Given the description of an element on the screen output the (x, y) to click on. 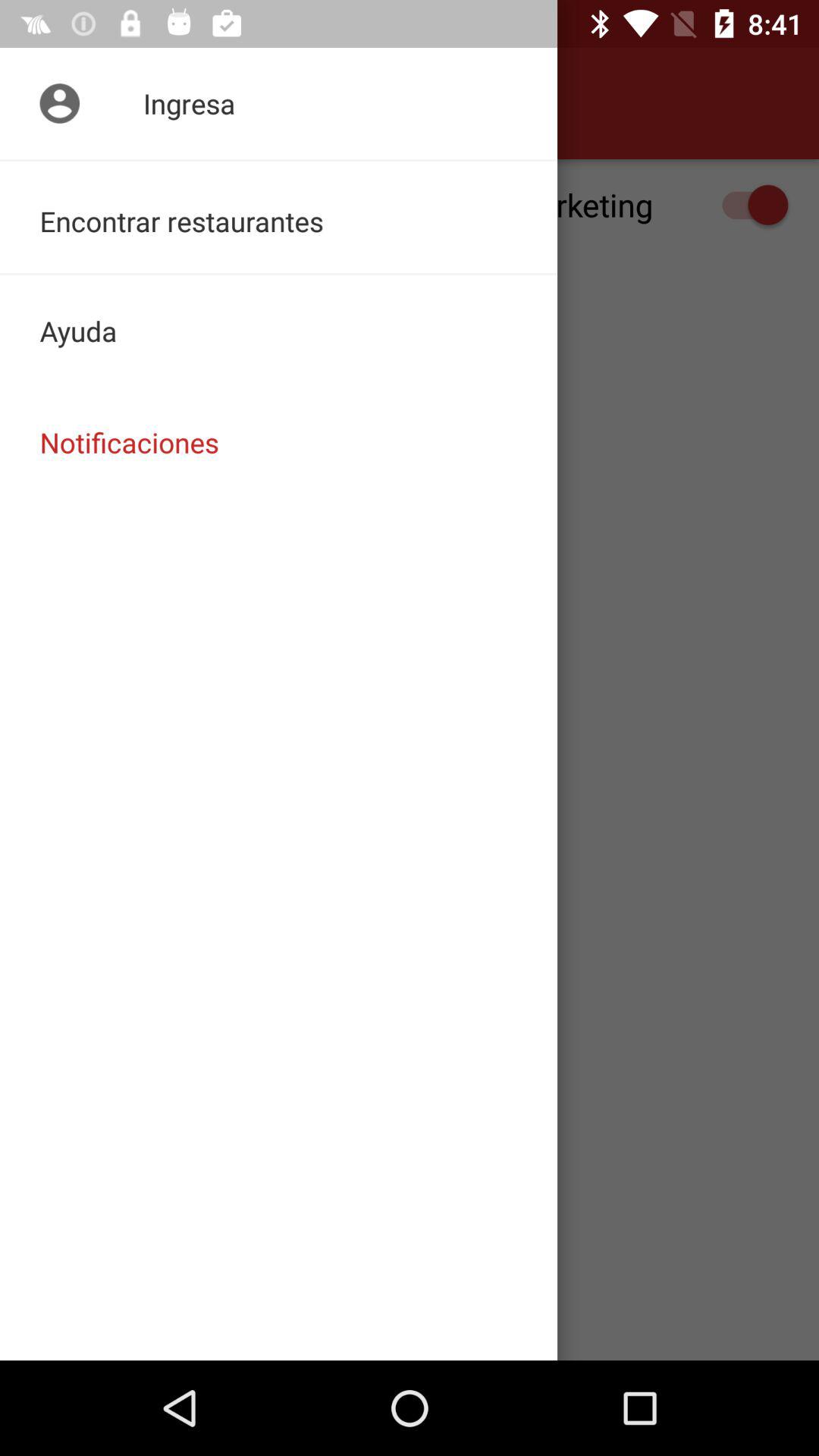
tap ingresa icon (278, 103)
